Given the description of an element on the screen output the (x, y) to click on. 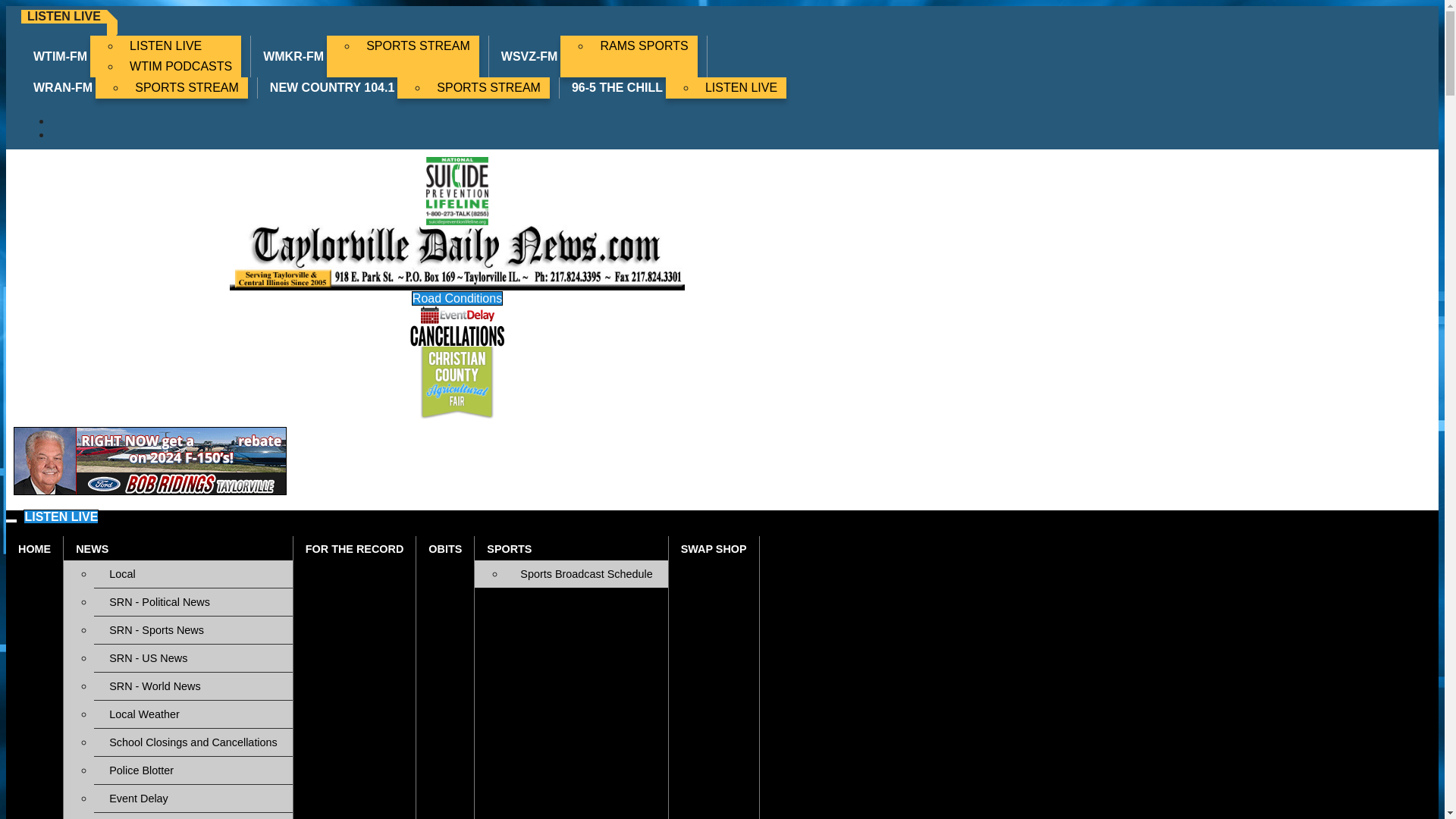
WRAN-FM (63, 87)
OBITS (445, 548)
SPORTS STREAM (489, 87)
SRN - Sports News (193, 629)
WSVZ-FM (528, 56)
School Closings and Cancellations (193, 741)
WTIM PODCASTS (180, 66)
LISTEN LIVE (180, 46)
NEW COUNTRY 104.1 (331, 87)
Road Conditions (193, 816)
NEWS (178, 548)
Road Conditions (457, 298)
FOR THE RECORD (355, 548)
HOME (33, 548)
RAMS SPORTS (644, 46)
